Given the description of an element on the screen output the (x, y) to click on. 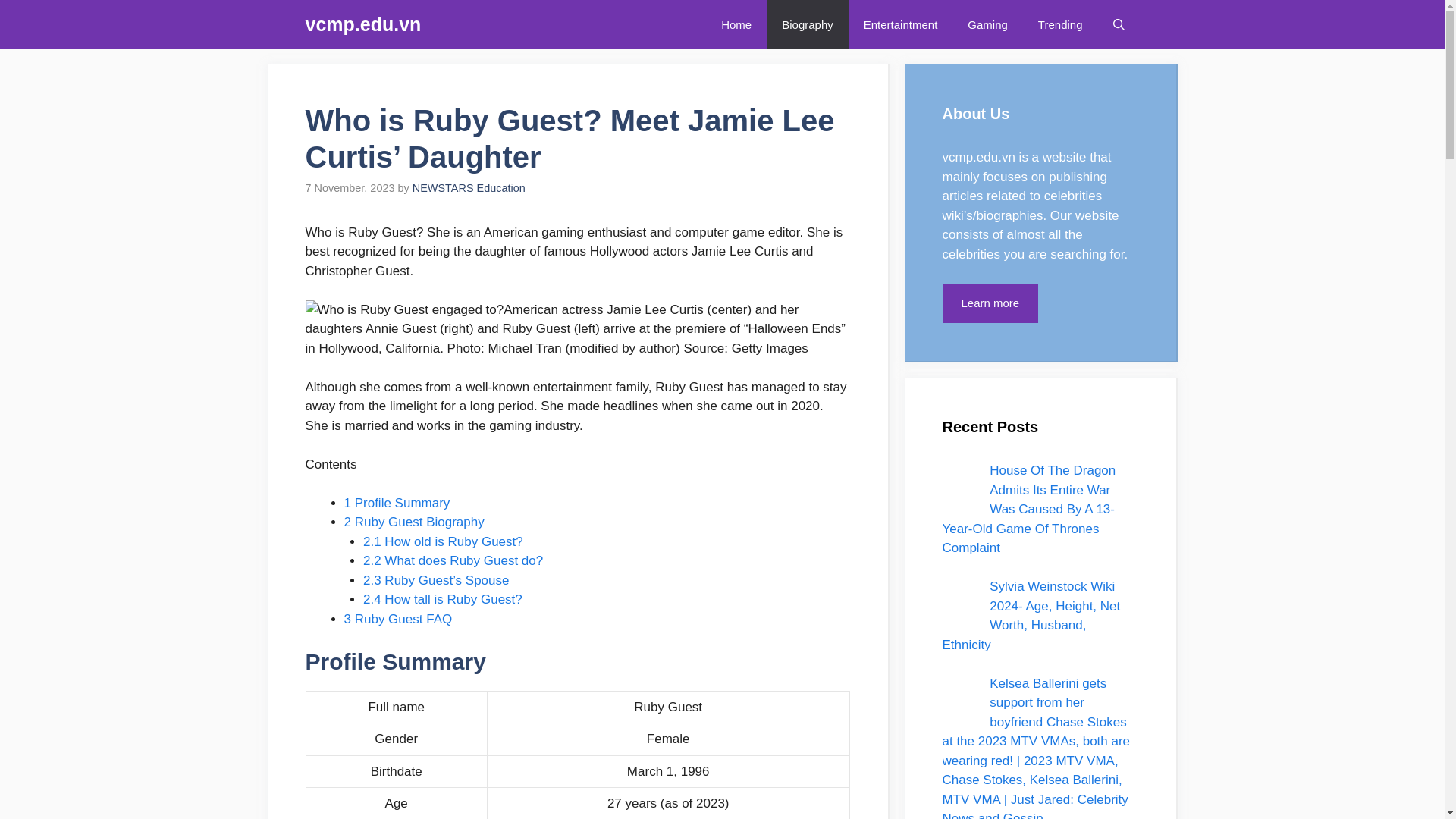
3 Ruby Guest FAQ (397, 618)
Home (736, 24)
2.4 How tall is Ruby Guest? (442, 599)
2.2 What does Ruby Guest do? (452, 560)
Who is Ruby Guest engaged to? (403, 310)
NEWSTARS Education (468, 187)
vcmp.edu.vn (978, 156)
Gaming (987, 24)
Entertaintment (900, 24)
vcmp.edu.vn (362, 24)
Trending (1060, 24)
Learn more (990, 303)
1 Profile Summary (396, 503)
2 Ruby Guest Biography (413, 522)
